Given the description of an element on the screen output the (x, y) to click on. 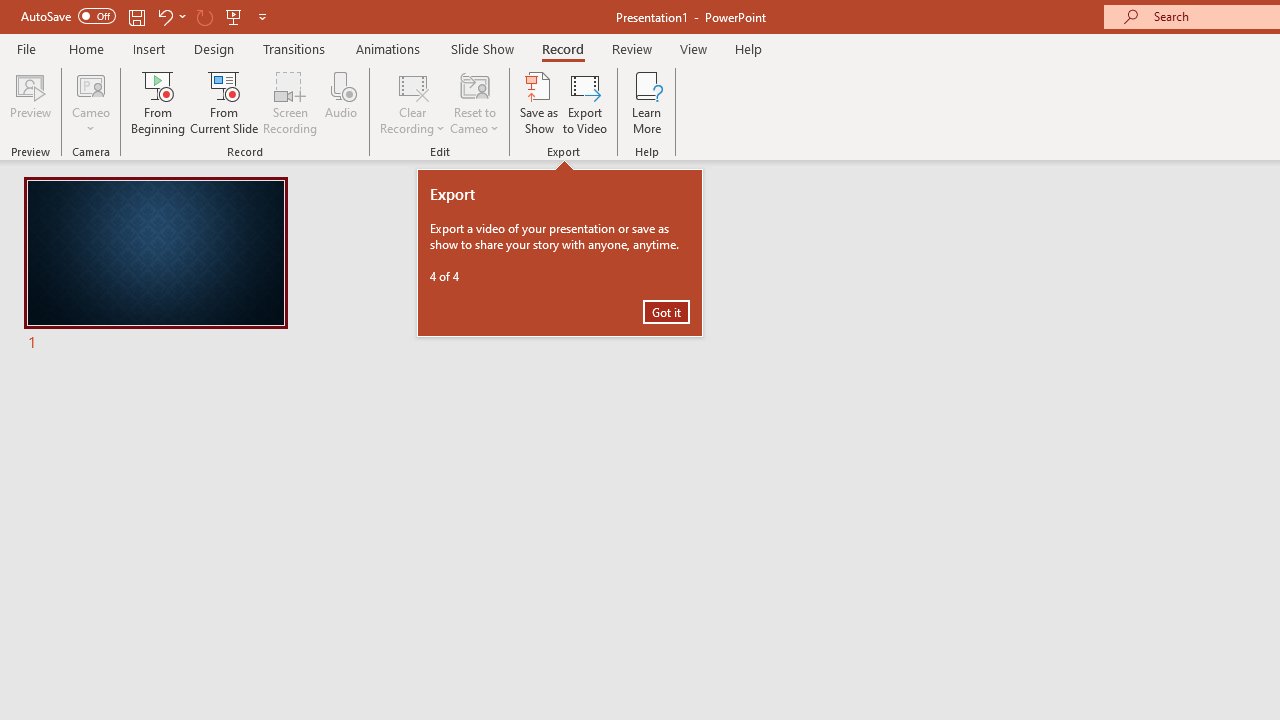
From Beginning... (158, 102)
Home (86, 48)
Audio (341, 102)
Cameo (91, 84)
Slide (155, 266)
File Tab (26, 48)
Design (214, 48)
